Given the description of an element on the screen output the (x, y) to click on. 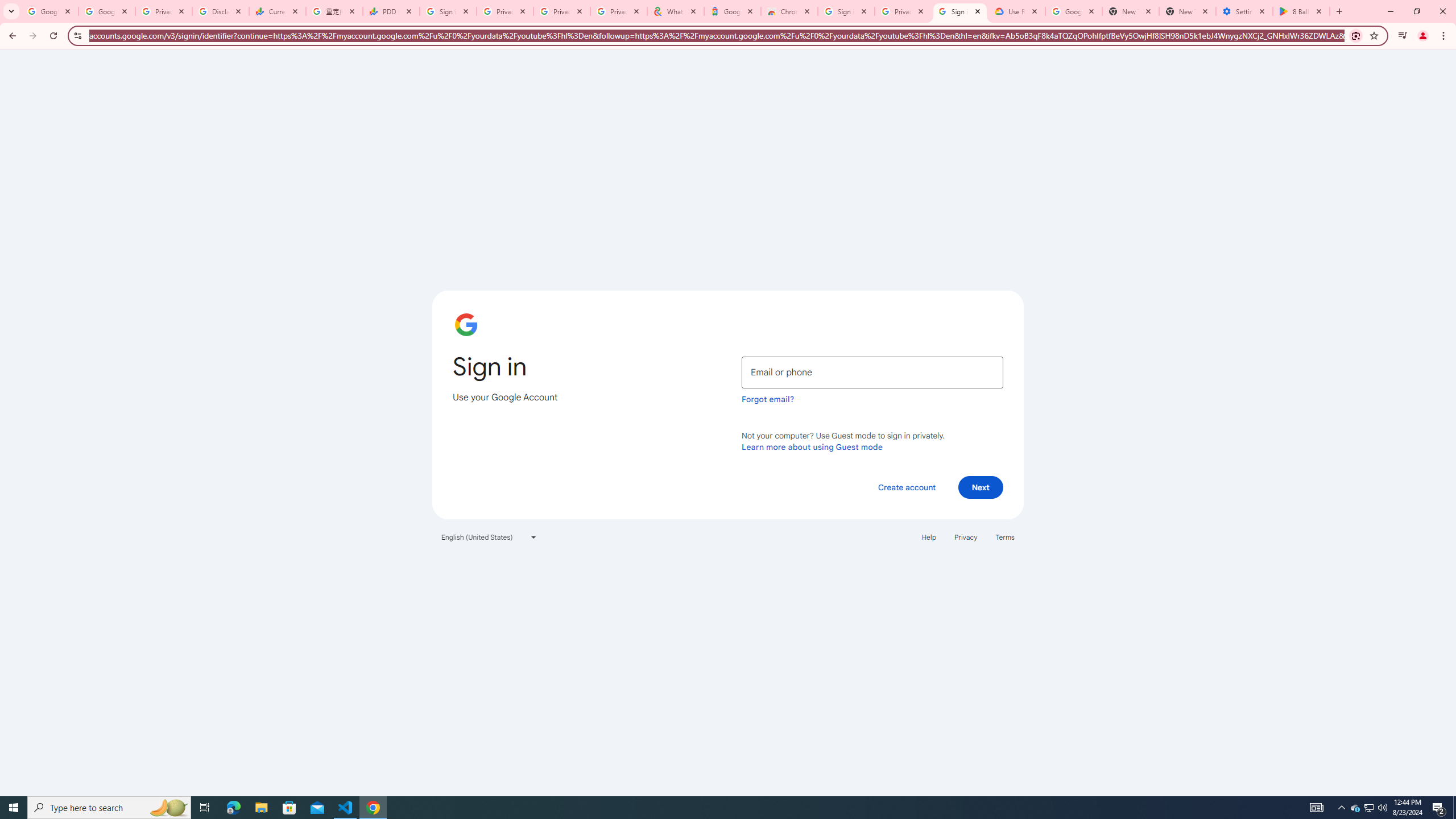
Settings - System (1244, 11)
Help (928, 536)
Chrome Web Store - Color themes by Chrome (788, 11)
Sign in - Google Accounts (447, 11)
